Given the description of an element on the screen output the (x, y) to click on. 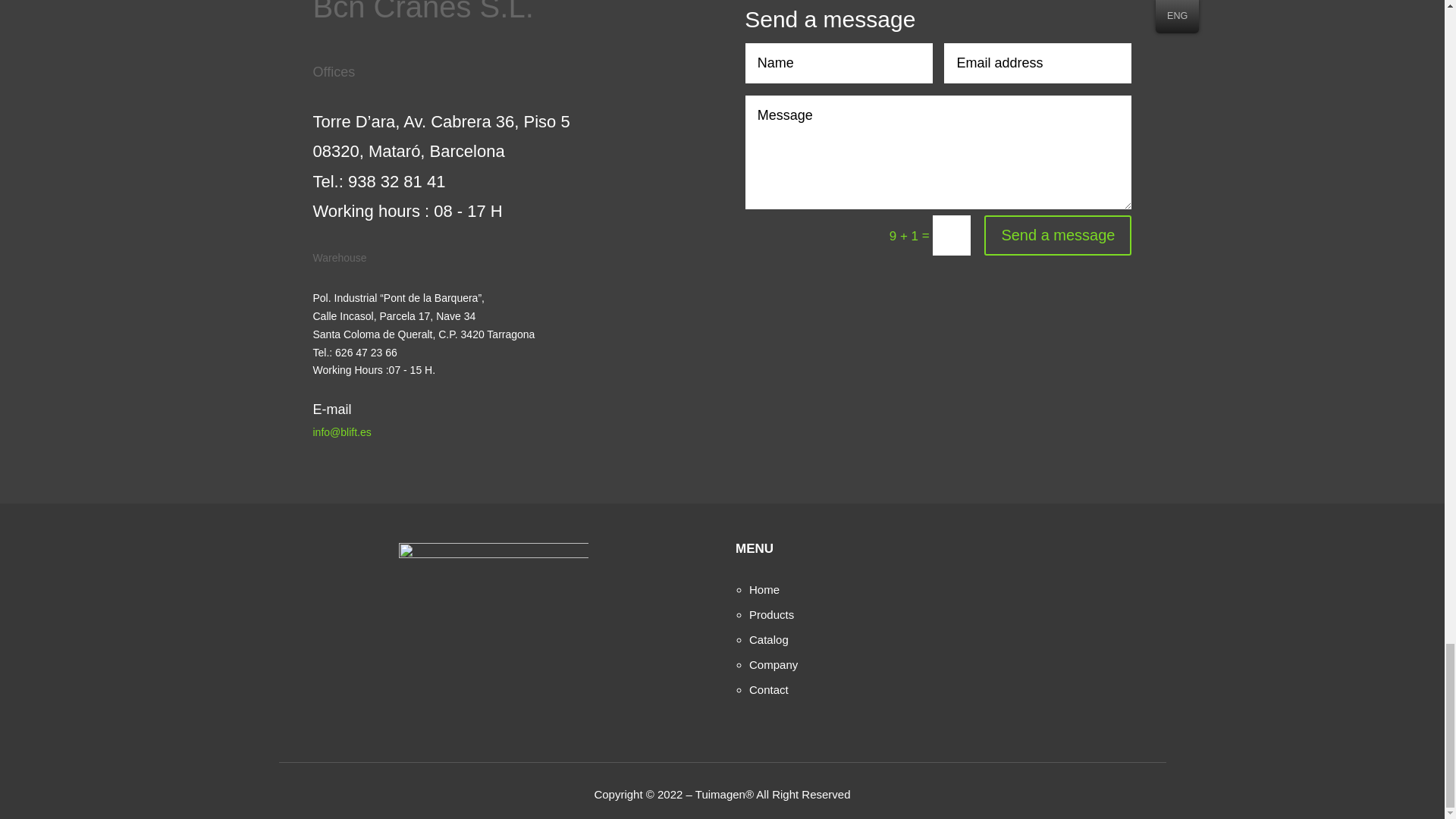
Home (763, 589)
Products (771, 614)
Catalog (769, 639)
Send a message (1057, 235)
Contact (769, 689)
Home (763, 589)
Company (773, 664)
